Given the description of an element on the screen output the (x, y) to click on. 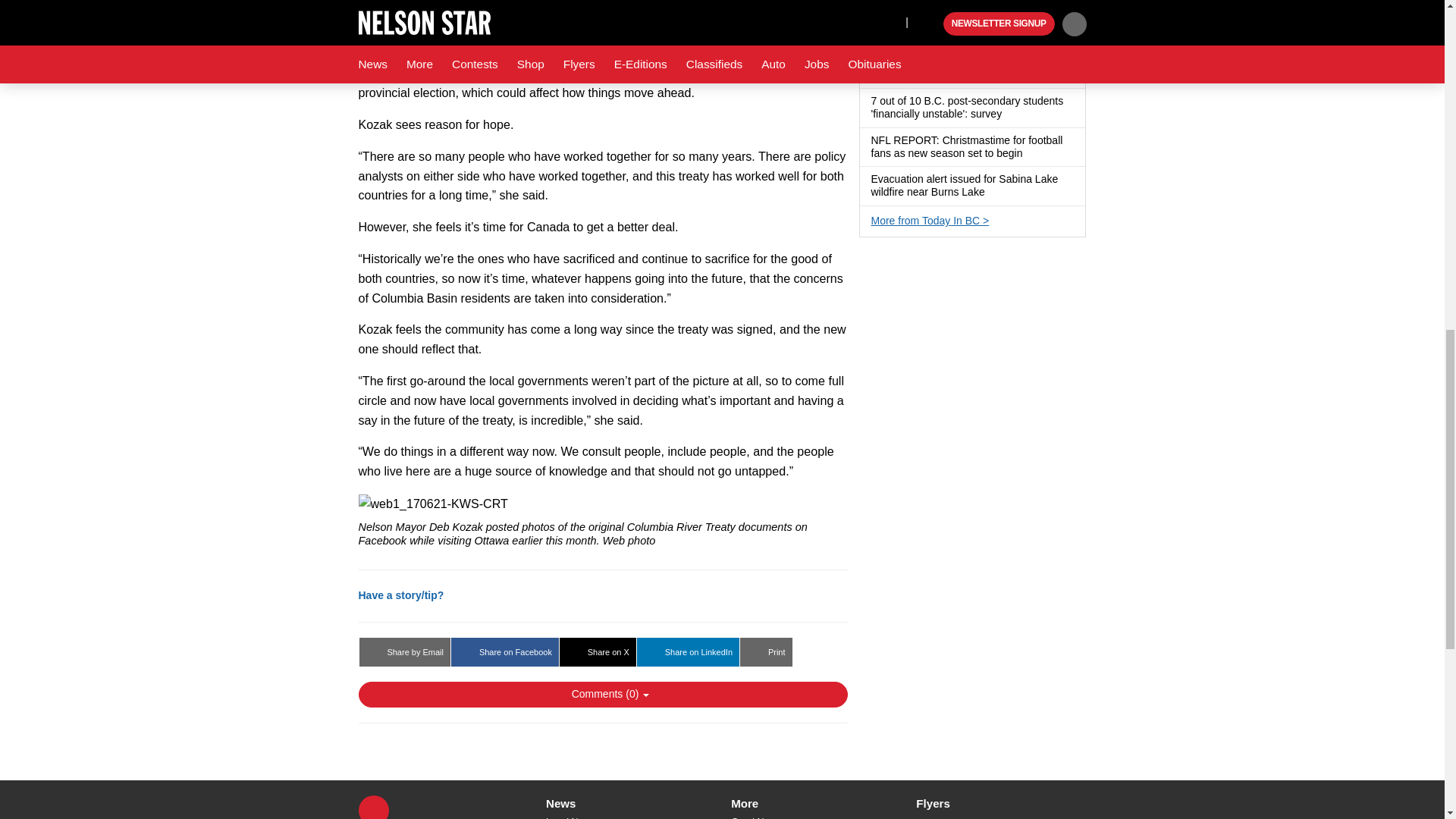
Show Comments (602, 694)
Has a gallery (994, 192)
X (373, 807)
